Given the description of an element on the screen output the (x, y) to click on. 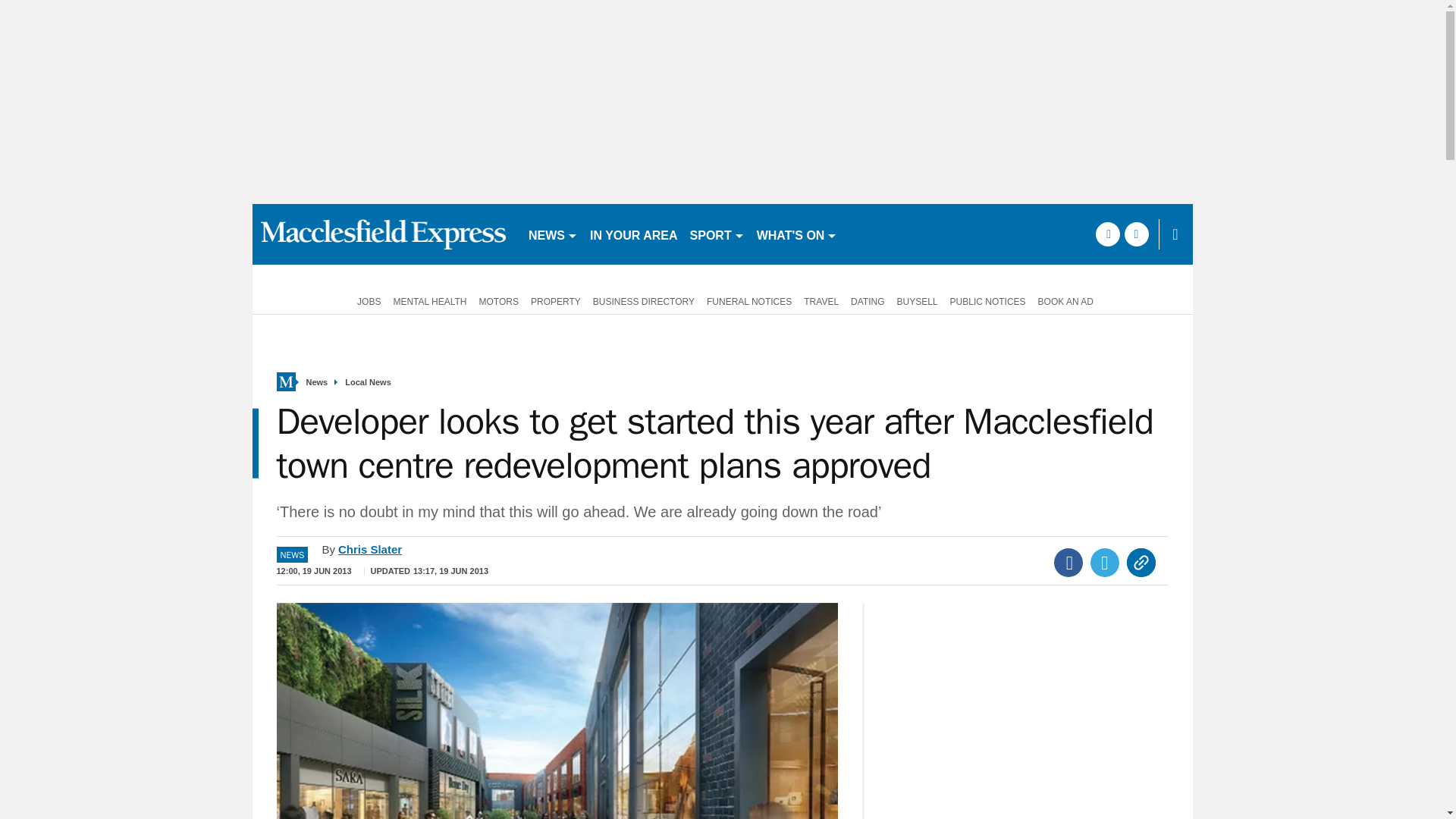
twitter (1136, 233)
MENTAL HEALTH (429, 300)
MOTORS (498, 300)
SPORT (717, 233)
IN YOUR AREA (633, 233)
PROPERTY (555, 300)
Facebook (1068, 562)
FUNERAL NOTICES (748, 300)
DATING (866, 300)
macclesfield (383, 233)
BUYSELL (917, 300)
facebook (1106, 233)
BUSINESS DIRECTORY (643, 300)
WHAT'S ON (797, 233)
Twitter (1104, 562)
